Given the description of an element on the screen output the (x, y) to click on. 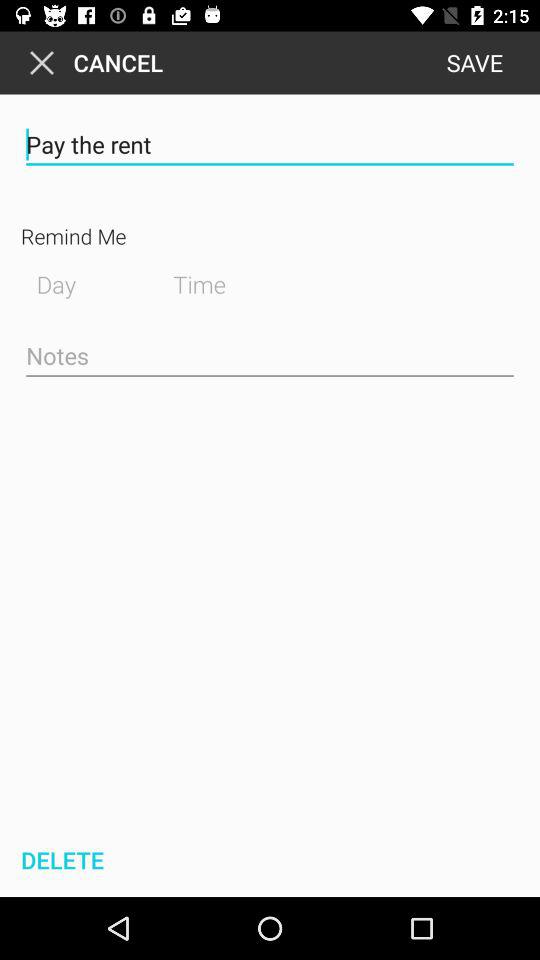
add note (270, 357)
